Given the description of an element on the screen output the (x, y) to click on. 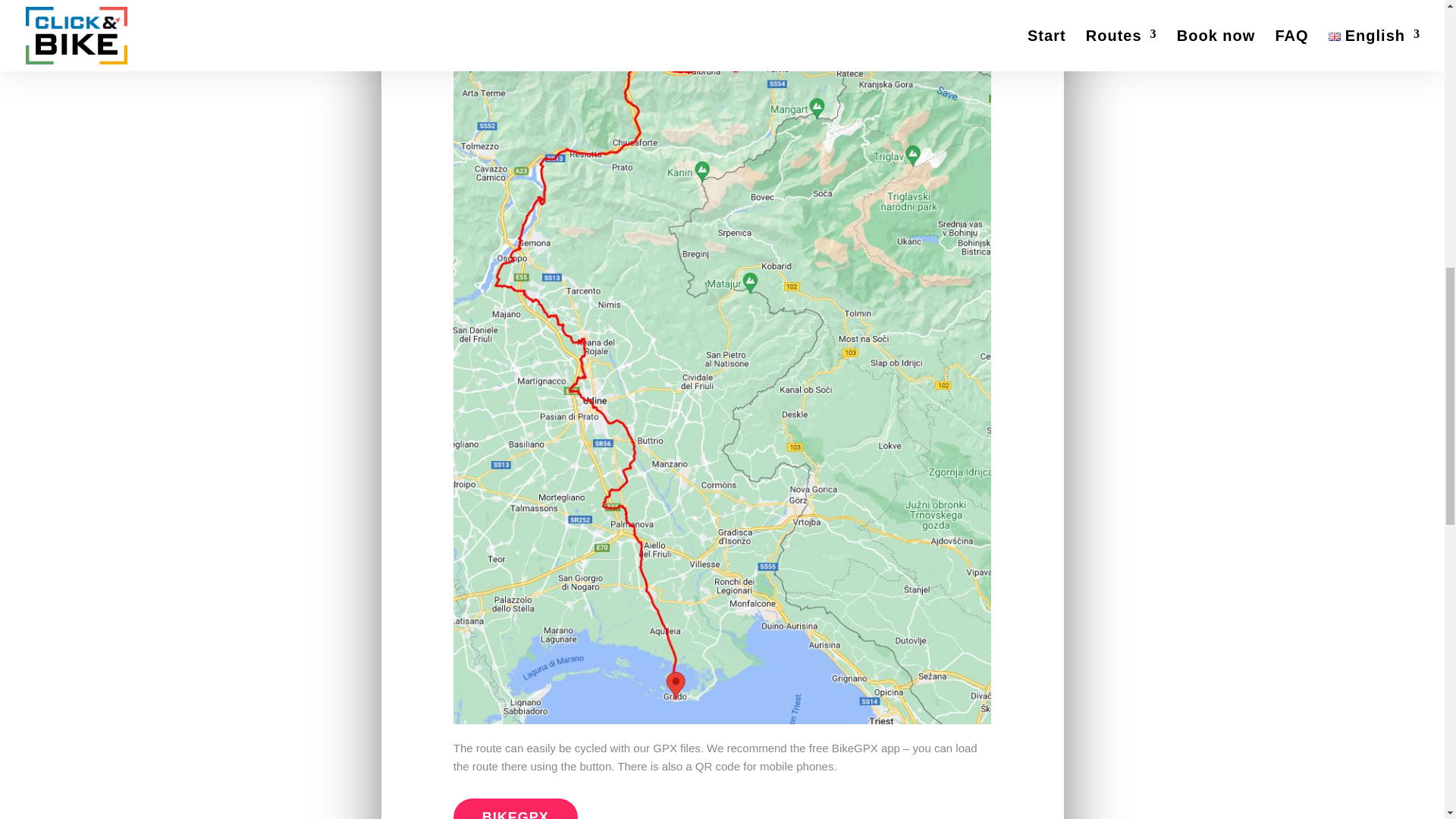
BIKEGPX (515, 808)
